Given the description of an element on the screen output the (x, y) to click on. 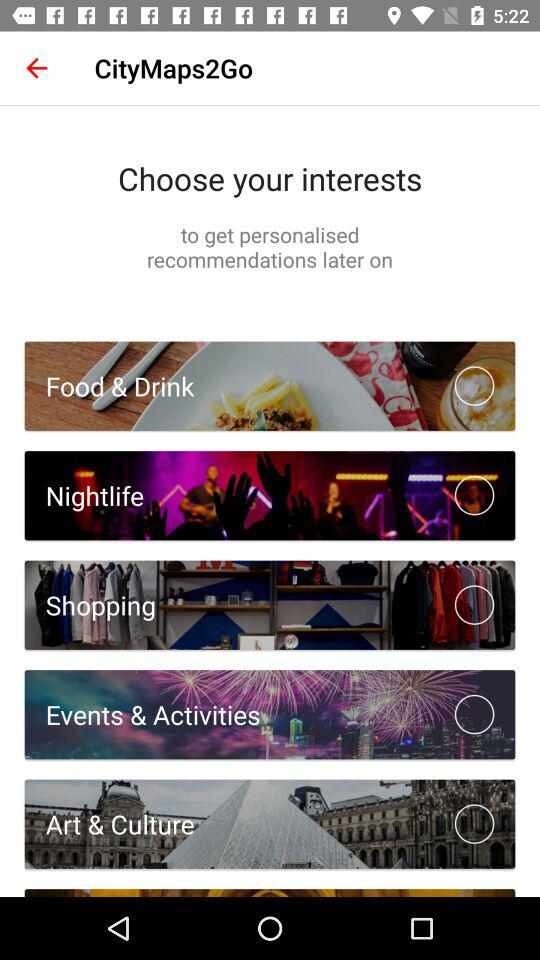
choose food & drink icon (109, 385)
